Given the description of an element on the screen output the (x, y) to click on. 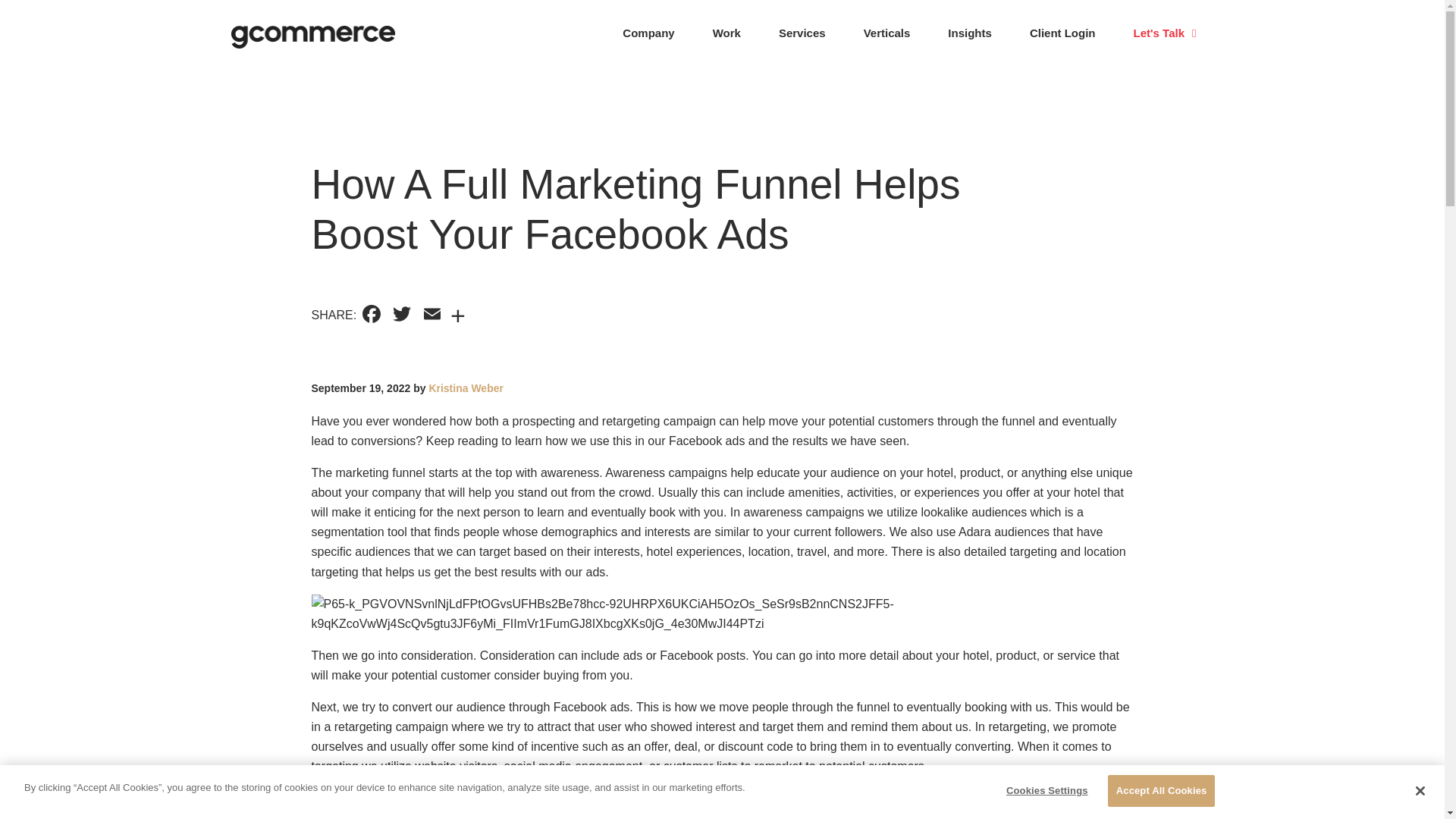
Posts by Kristina Weber (465, 387)
Client Login (1062, 33)
Kristina Weber (465, 387)
Let'S Talk (1165, 33)
Twitter (401, 316)
Facebook (371, 316)
Twitter (401, 316)
Email (431, 316)
Facebook (371, 316)
Email (431, 316)
